Given the description of an element on the screen output the (x, y) to click on. 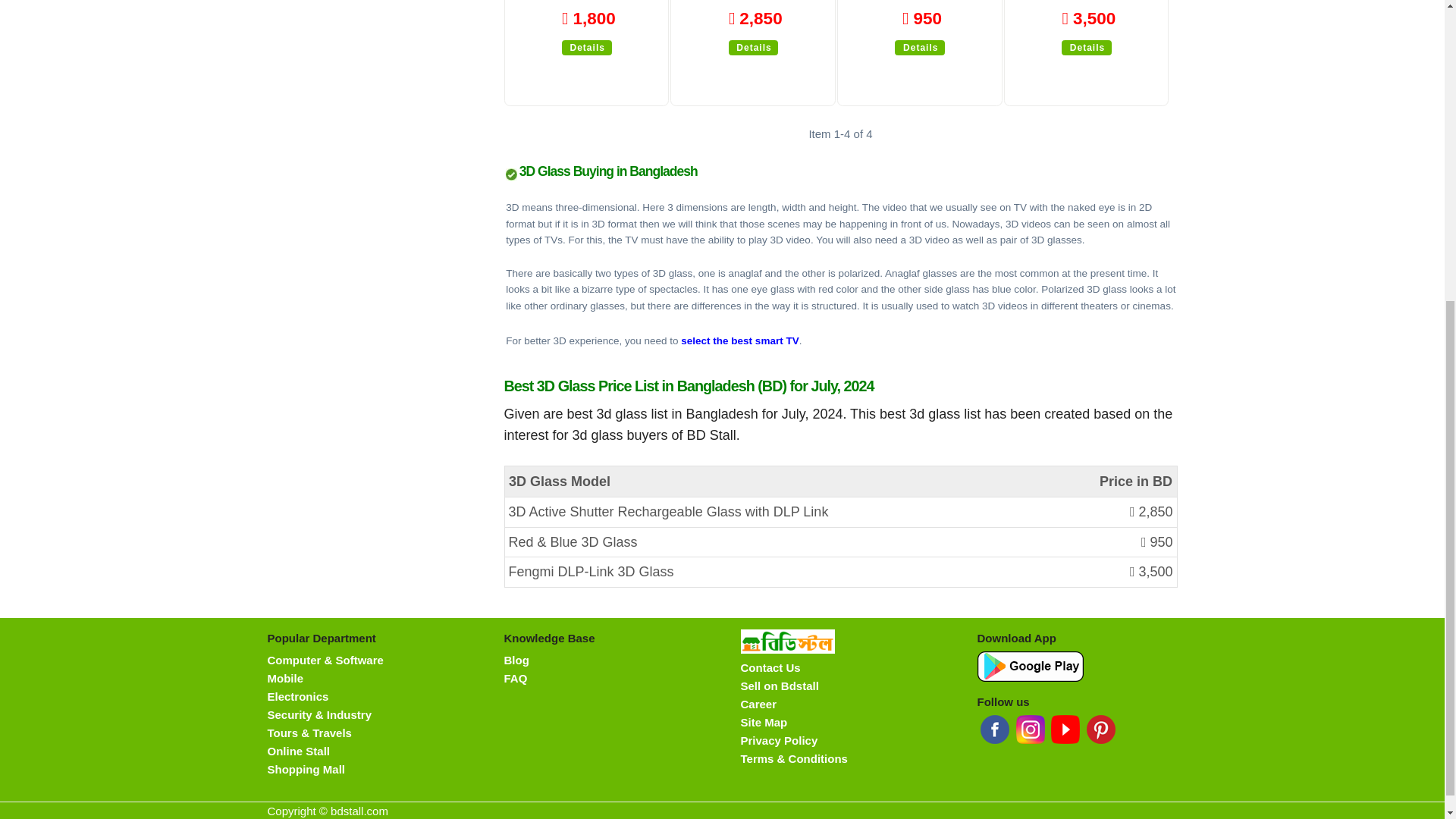
Bdstall App (1029, 666)
Bdstall Pinterest Page (1100, 728)
Bdstall YouTube Page (1065, 728)
Bdstall Instagram Page (1030, 728)
Bdstall Facebook Page (994, 728)
